Given the description of an element on the screen output the (x, y) to click on. 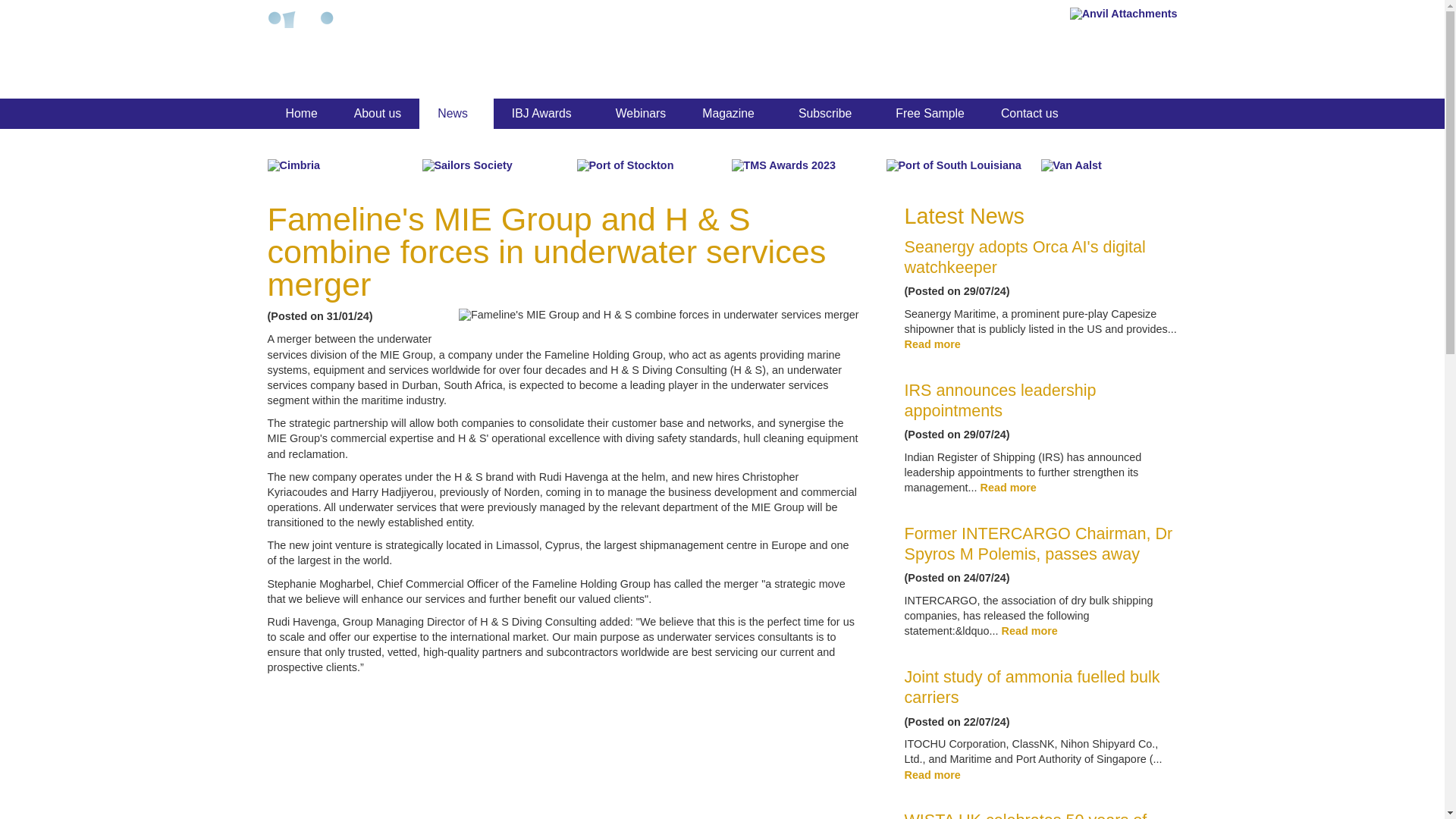
Home (300, 113)
News (456, 113)
About us (377, 113)
IBJ Awards (544, 113)
